Given the description of an element on the screen output the (x, y) to click on. 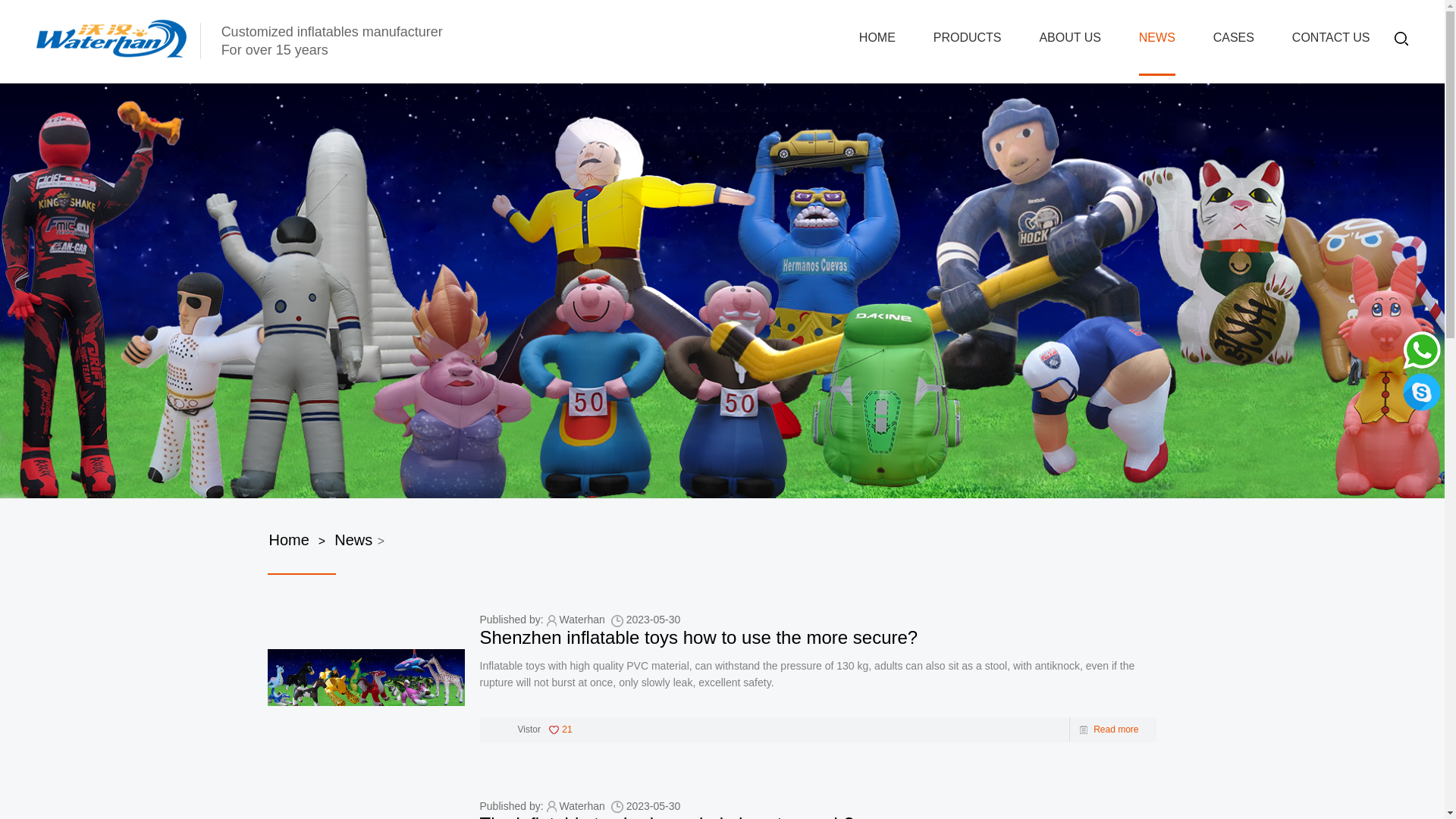
ABOUT US (1069, 37)
HOME (877, 37)
PRODUCTS (967, 37)
NEWS (1156, 37)
